Given the description of an element on the screen output the (x, y) to click on. 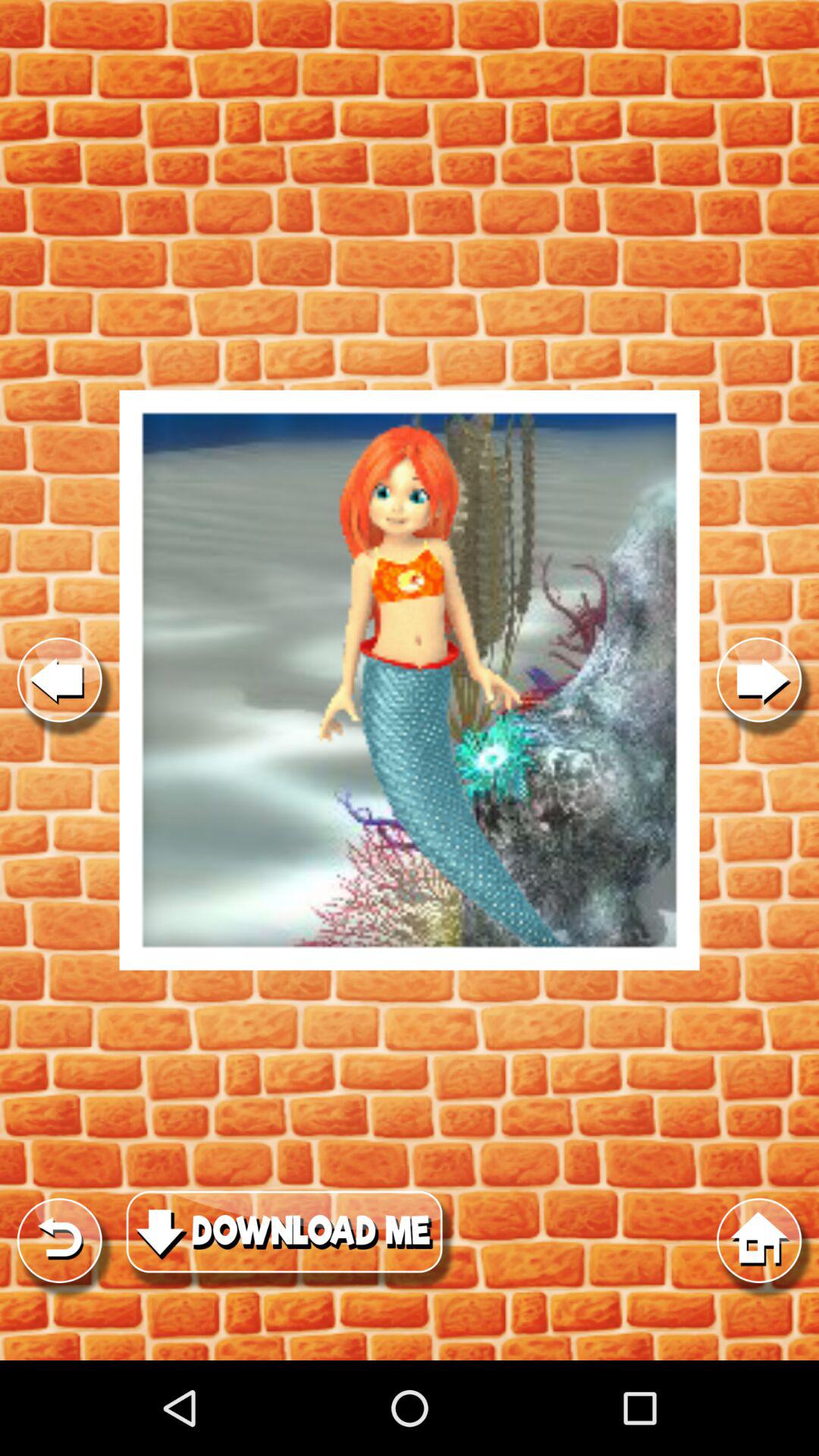
show next (759, 679)
